Given the description of an element on the screen output the (x, y) to click on. 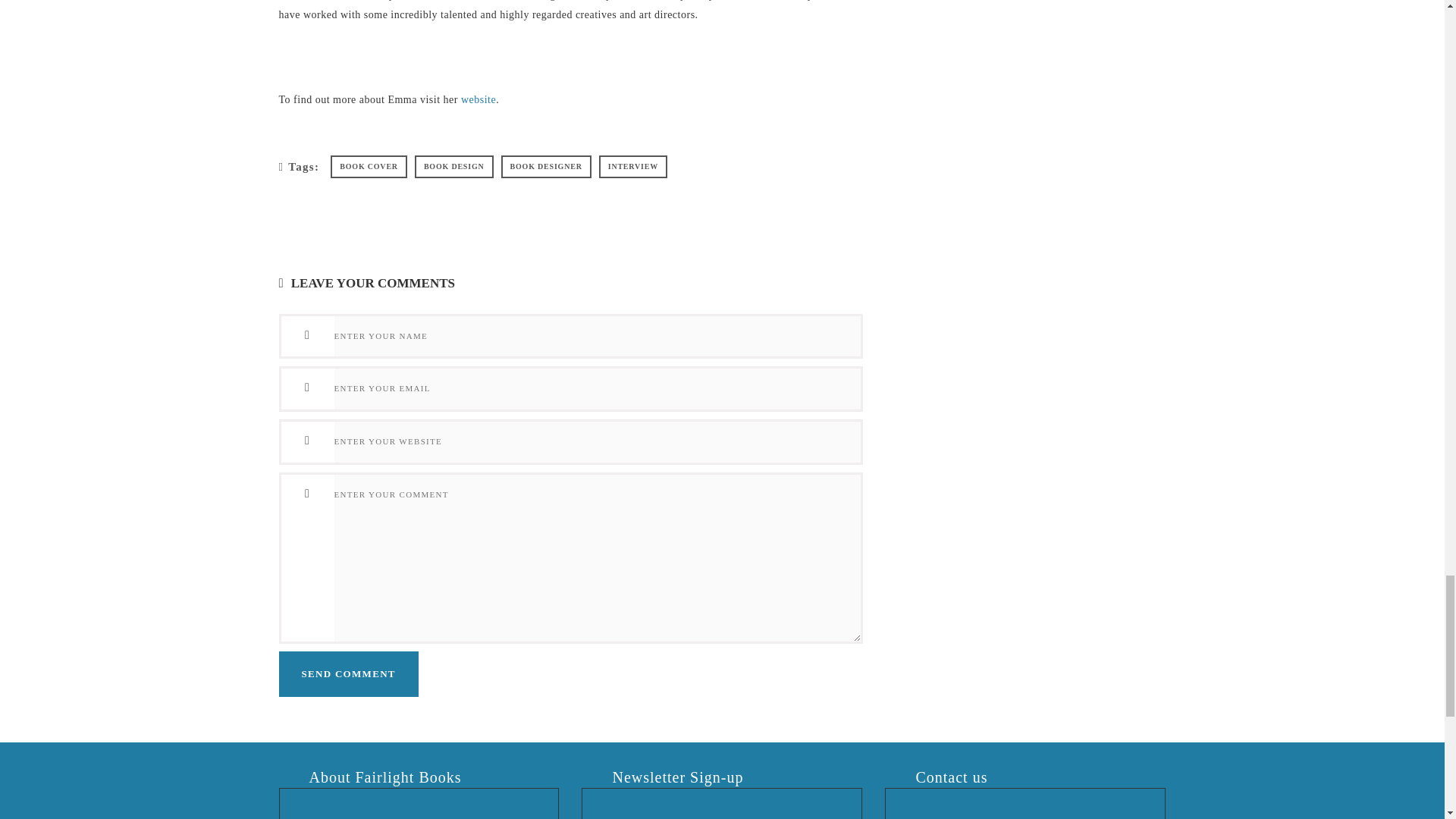
book-cover (368, 166)
book-designer (545, 166)
interview (632, 166)
book-design (453, 166)
